Given the description of an element on the screen output the (x, y) to click on. 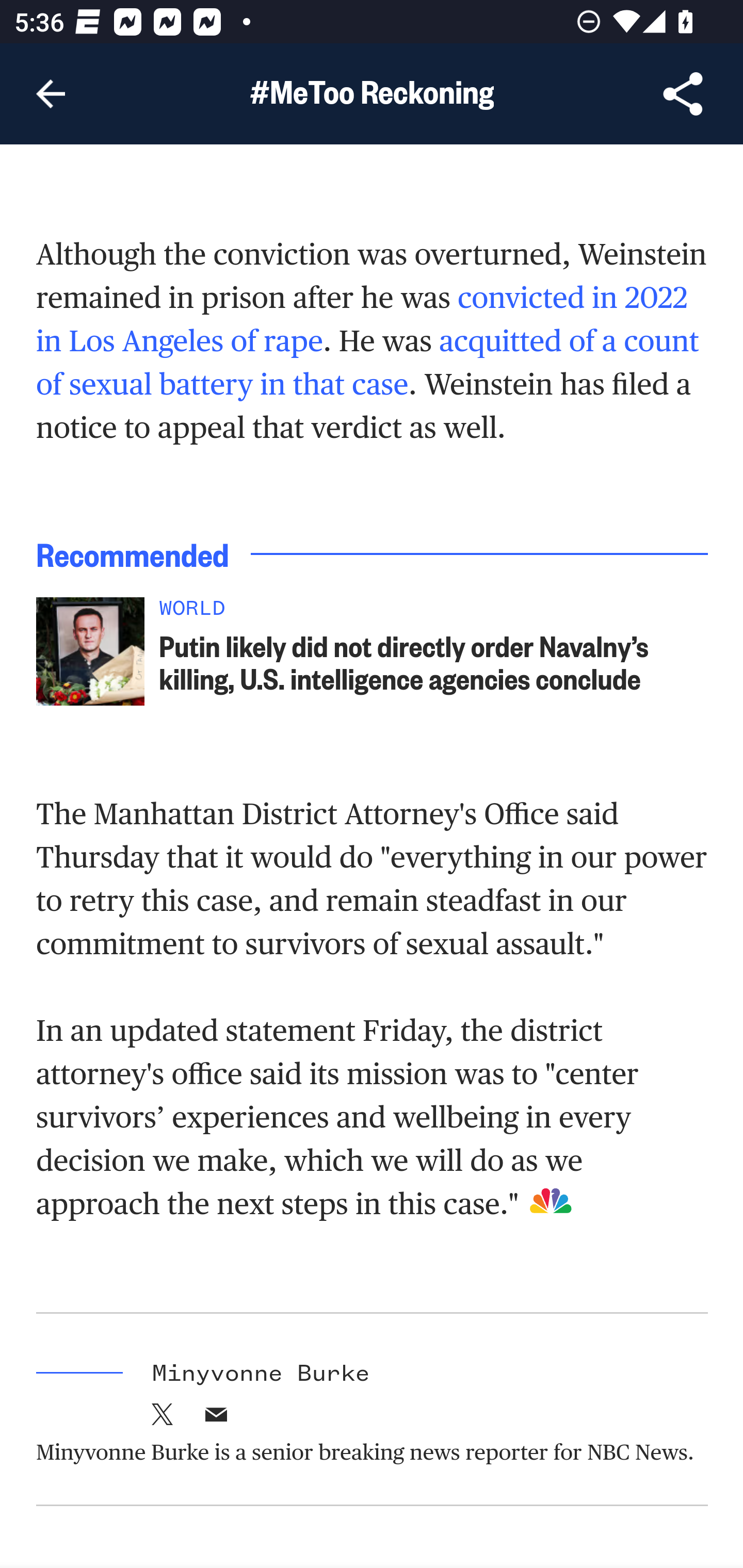
Navigate up (50, 93)
Share Article, button (683, 94)
convicted in 2022 in Los Angeles of rape (362, 319)
WORLD (434, 613)
Minyvonne Burke (260, 1372)
 (162, 1419)
 (215, 1419)
